Given the description of an element on the screen output the (x, y) to click on. 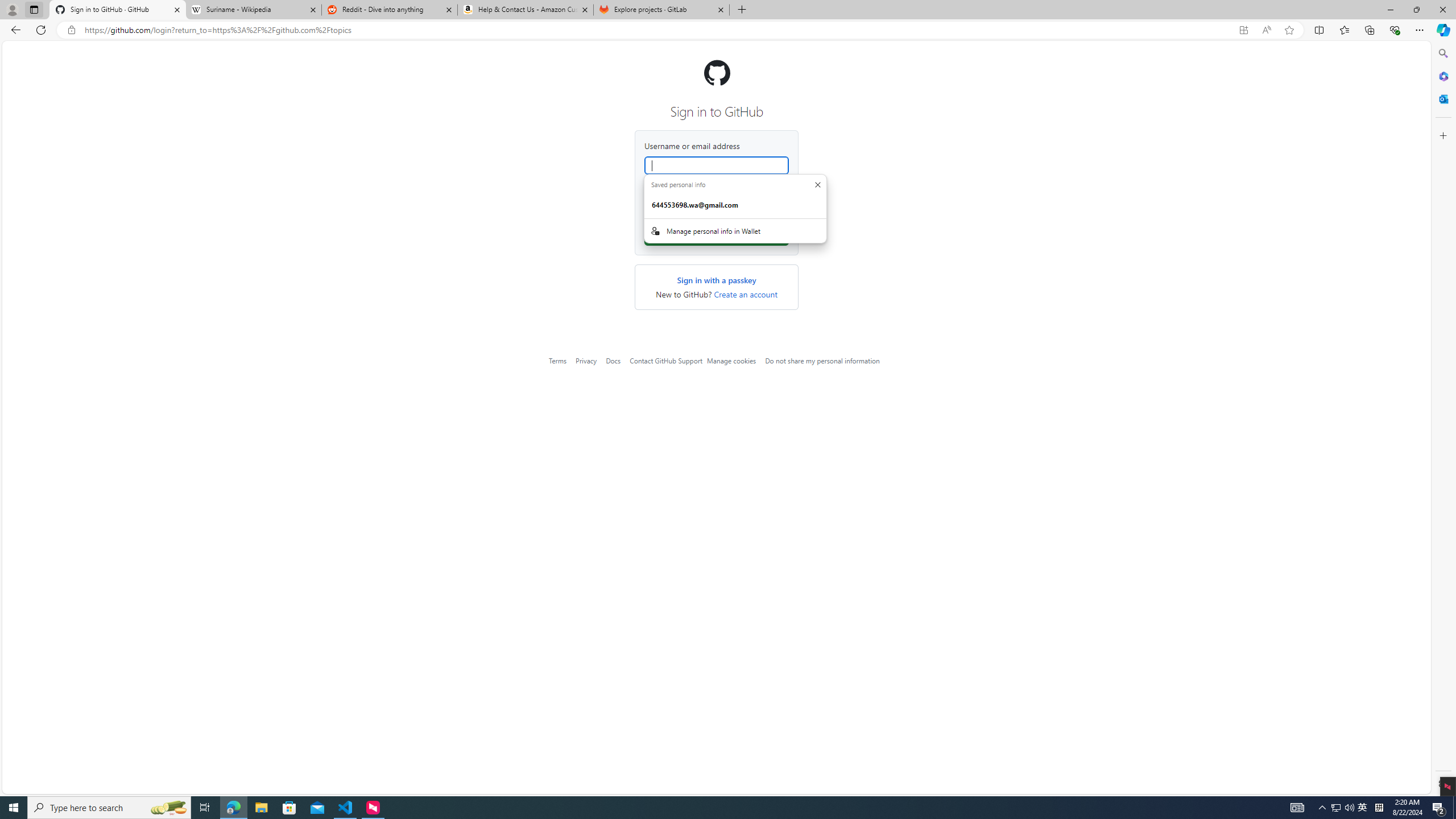
Help & Contact Us - Amazon Customer Service (525, 9)
Sign in with a passkey (717, 279)
Suriname - Wikipedia (253, 9)
Don't show saved information (817, 184)
